Given the description of an element on the screen output the (x, y) to click on. 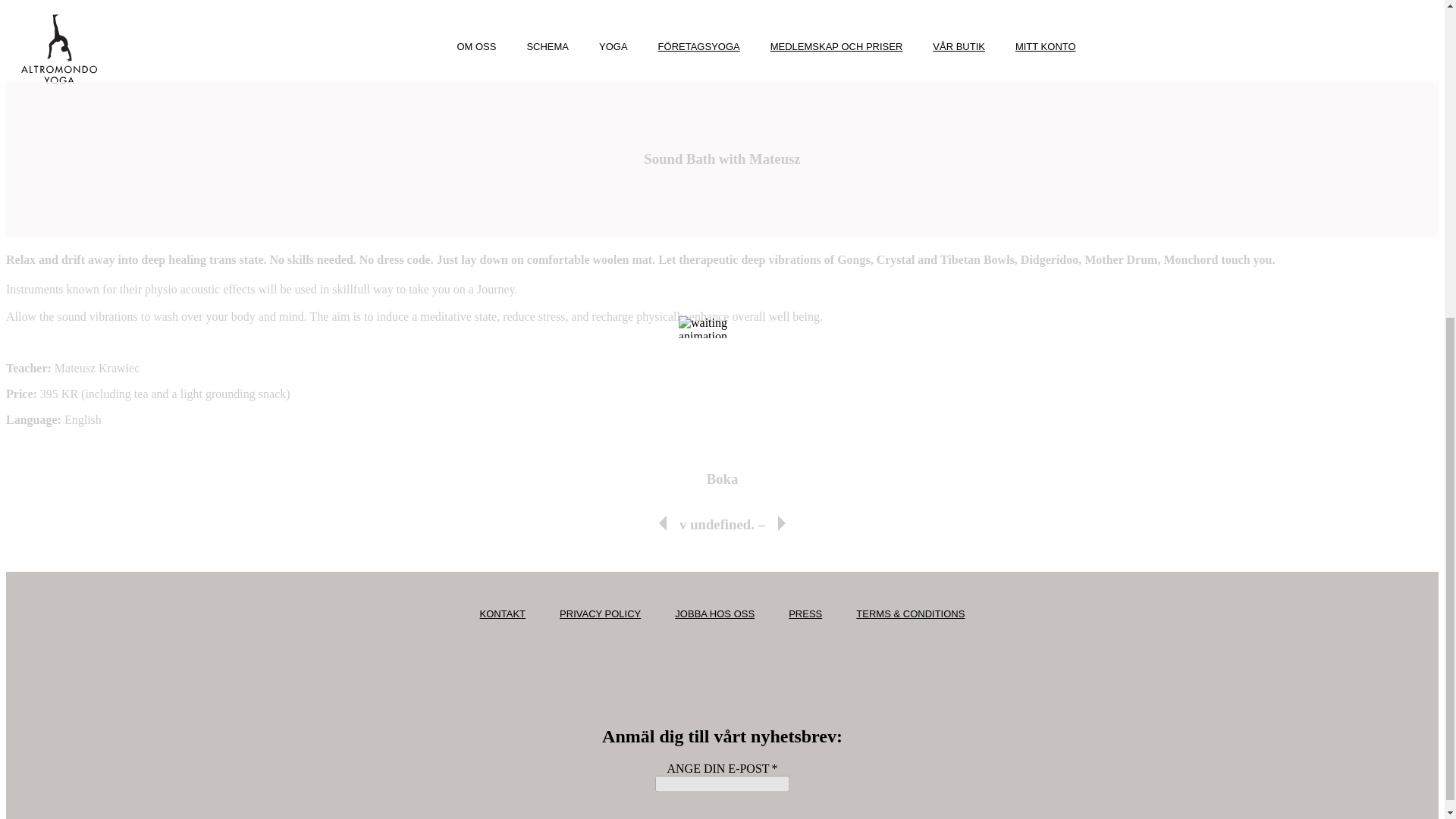
PRESS (805, 612)
PRIVACY POLICY (599, 612)
Instagram link (739, 666)
Facebook link (706, 666)
KONTAKT (502, 612)
JOBBA HOS OSS (714, 612)
